Given the description of an element on the screen output the (x, y) to click on. 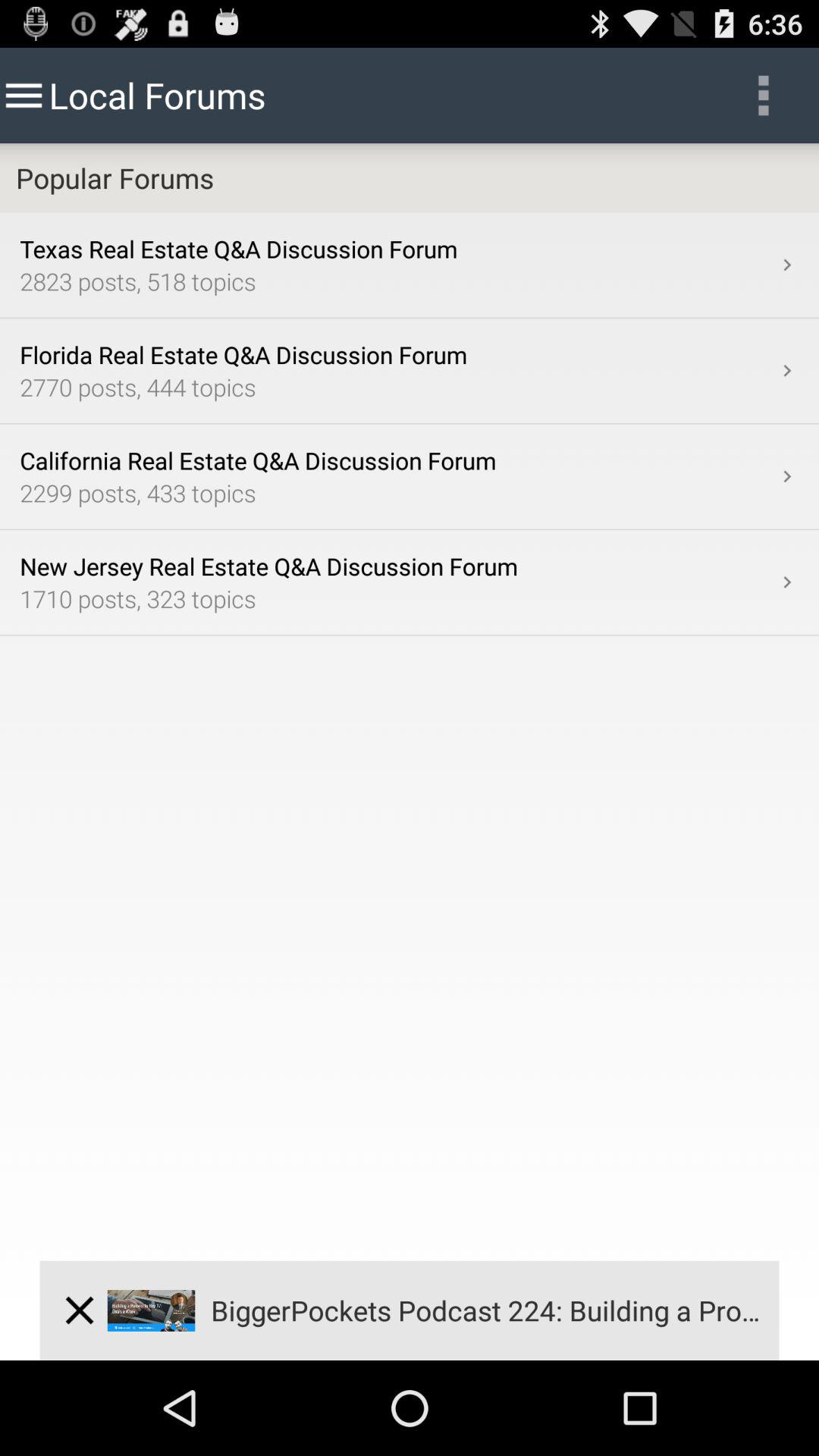
open the icon below the 2299 posts 433 (787, 582)
